Given the description of an element on the screen output the (x, y) to click on. 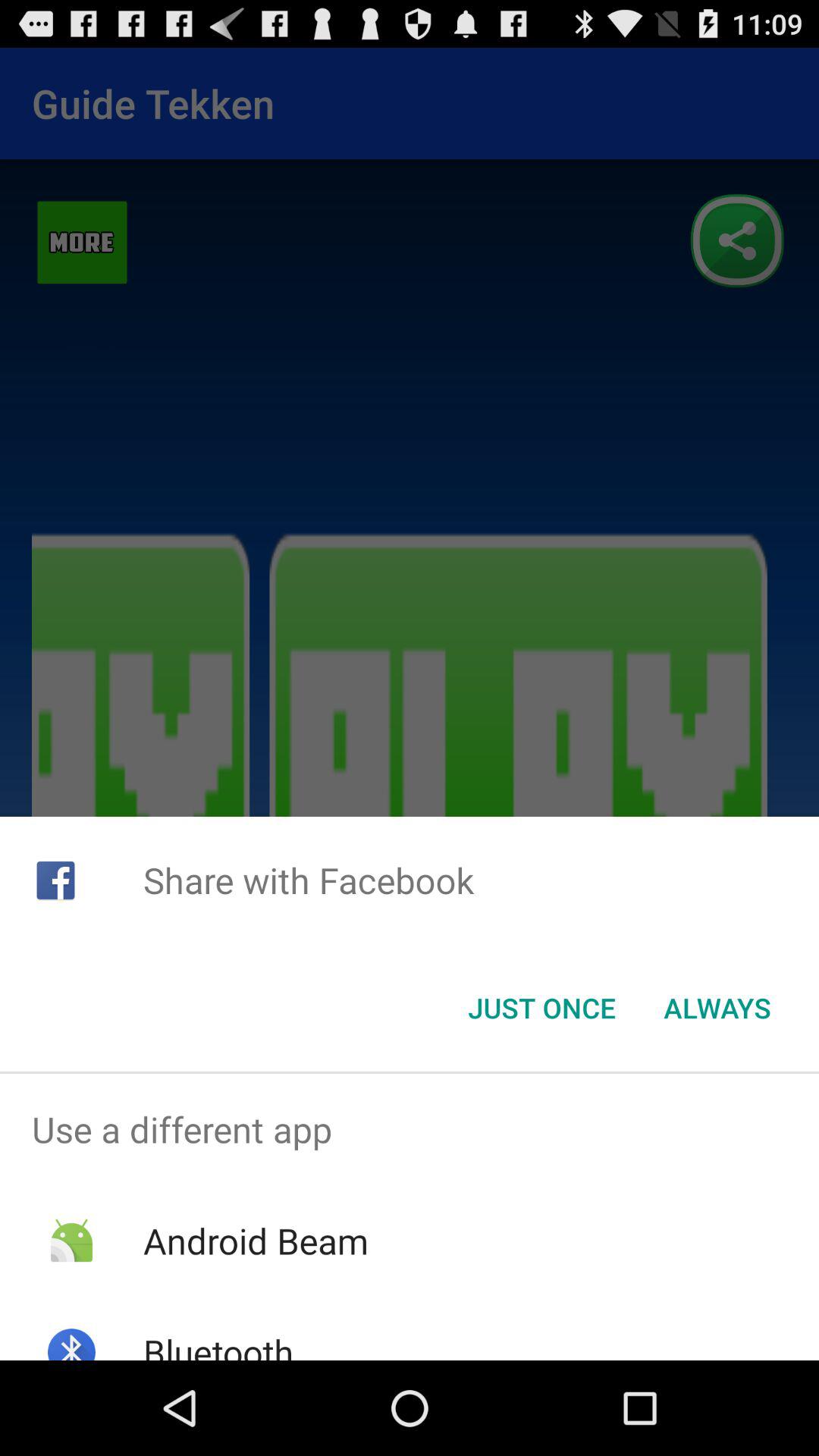
select the icon below the share with facebook item (541, 1007)
